Given the description of an element on the screen output the (x, y) to click on. 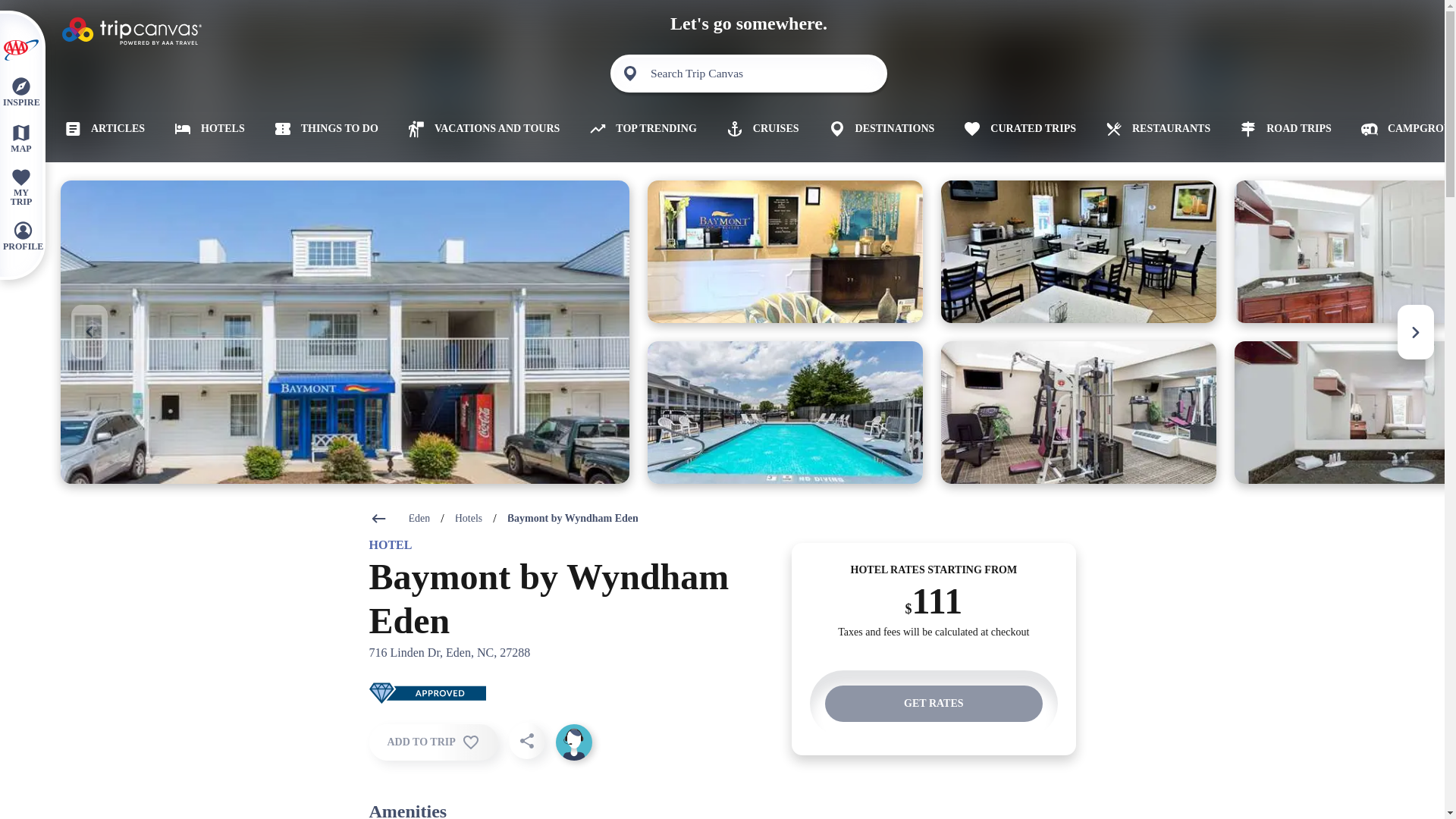
ROAD TRIPS (1280, 128)
MY TRIP (20, 186)
CRUISES (756, 128)
RESTAURANTS (1151, 128)
VACATIONS AND TOURS (477, 128)
HOTELS (203, 128)
MAP (20, 137)
PROFILE (22, 235)
CURATED TRIPS (1013, 128)
Hotels (468, 518)
Eden (419, 518)
THINGS TO DO (320, 128)
DESTINATIONS (875, 128)
ARTICLES (98, 128)
Eden (419, 518)
